Given the description of an element on the screen output the (x, y) to click on. 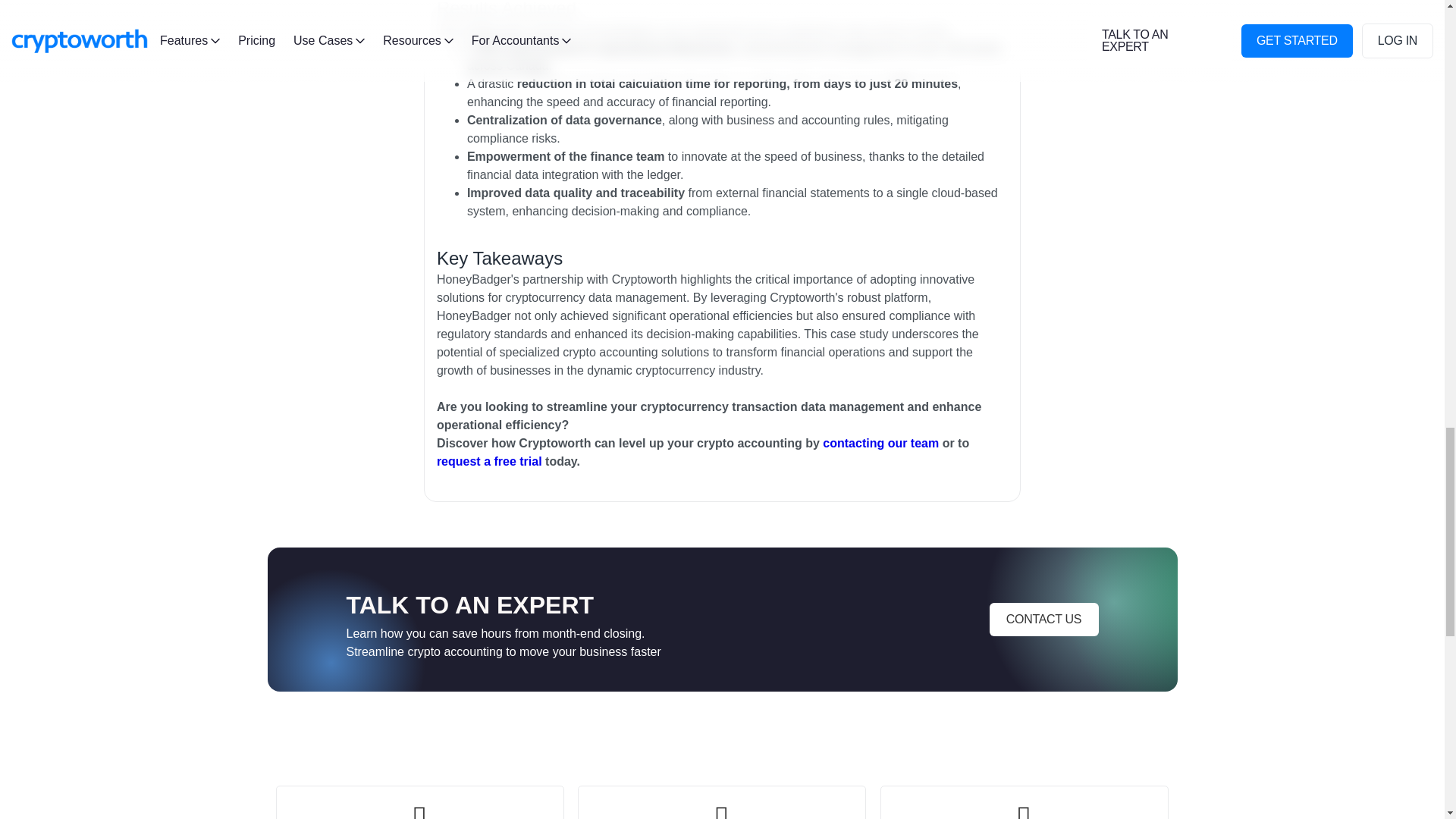
CONTACT US (1042, 619)
contacting our team (880, 443)
request a free trial (488, 461)
